Given the description of an element on the screen output the (x, y) to click on. 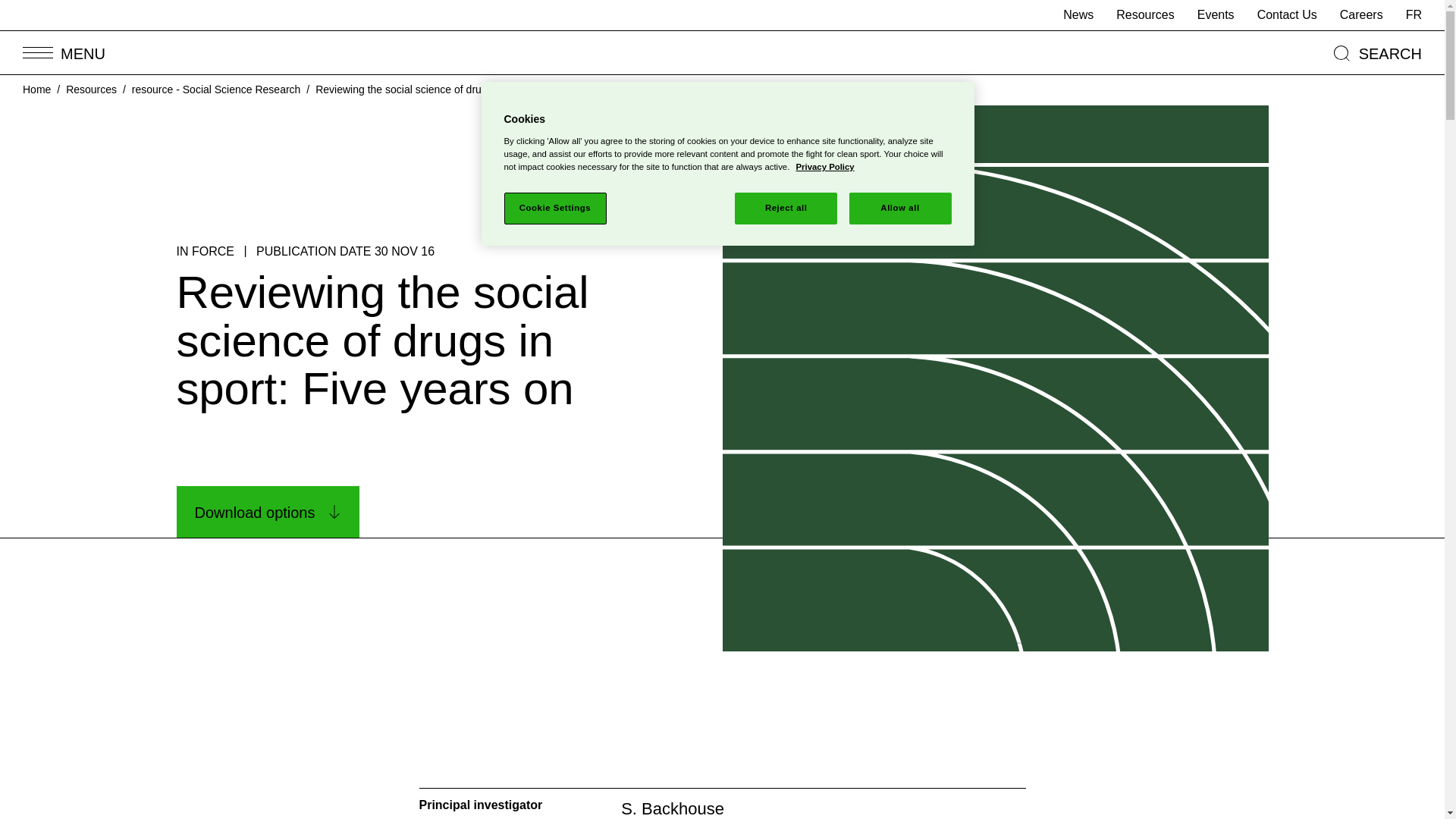
FR (1414, 14)
Resources (1144, 14)
MENU (64, 52)
Contact Us (1287, 14)
Careers (1361, 14)
Skip to main content (13, 8)
News (1077, 14)
Events (1215, 14)
Careers (1361, 14)
Contact Us (1287, 14)
